Given the description of an element on the screen output the (x, y) to click on. 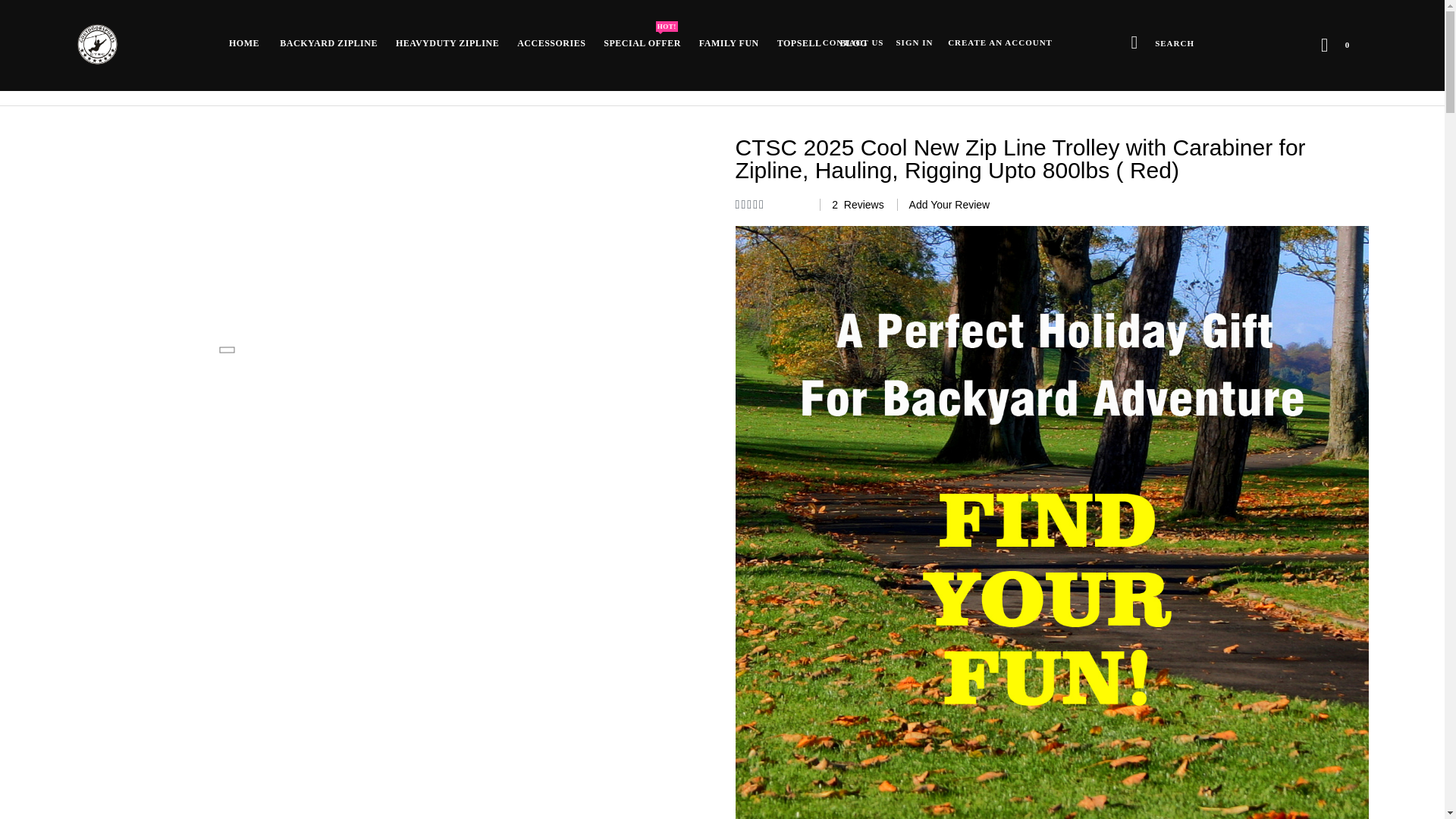
BACKYARD ZIPLINE (328, 42)
Family Fun (729, 42)
Topsell (799, 42)
2  Reviews (852, 204)
FAMILY FUN (729, 42)
ACCESSORIES (550, 42)
SIGN IN (914, 41)
CONTACT US (641, 42)
SEARCH (852, 41)
HEAVYDUTY ZIPLINE (1157, 40)
Accessories (447, 42)
Special Offer (550, 42)
TOPSELL (641, 42)
Add Your Review (799, 42)
